Given the description of an element on the screen output the (x, y) to click on. 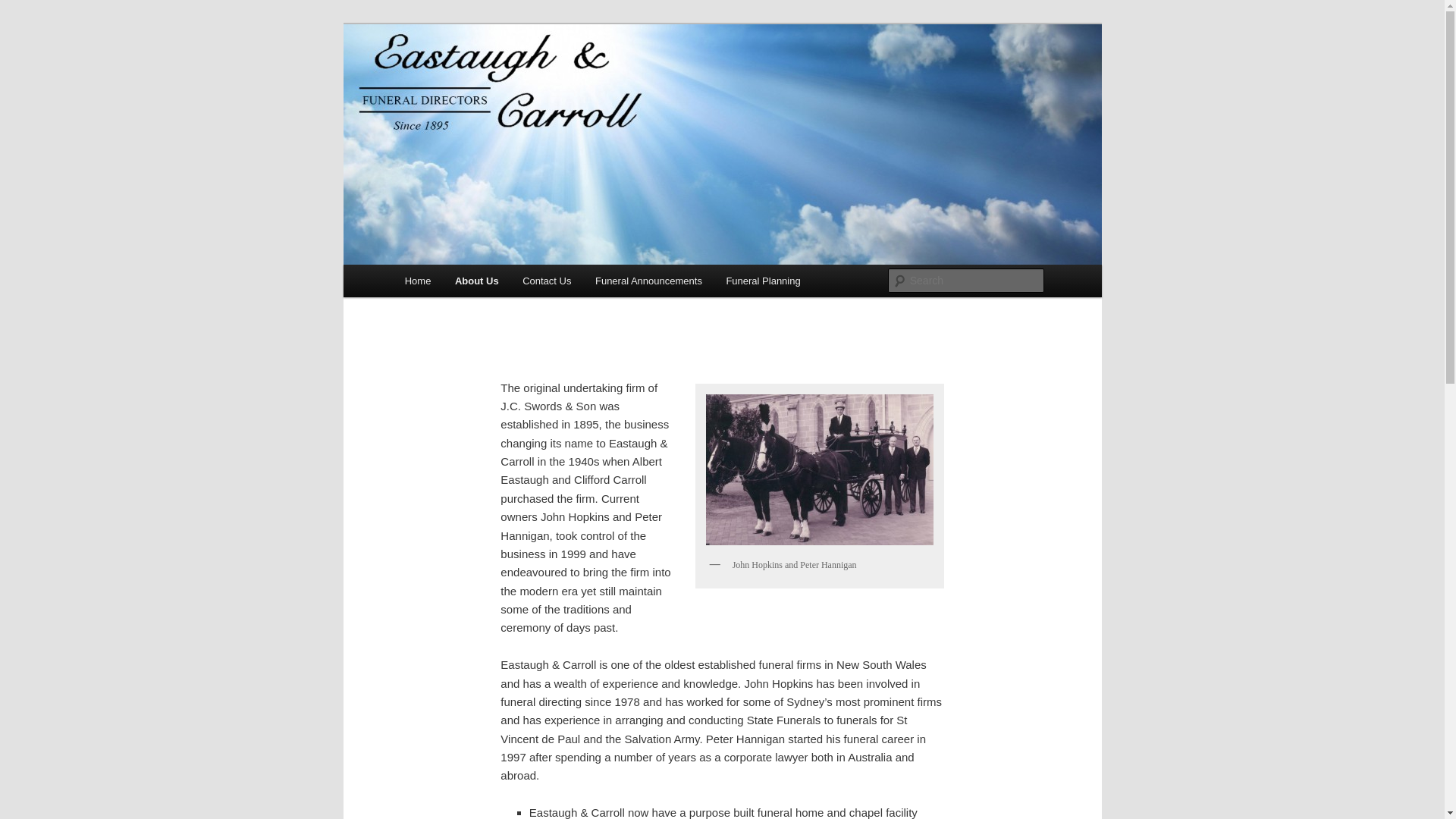
Funeral Announcements Element type: text (648, 280)
Home Element type: text (417, 280)
Eastaugh & Carroll Element type: text (502, 78)
Skip to primary content Element type: text (472, 283)
Skip to secondary content Element type: text (479, 283)
Contact Us Element type: text (546, 280)
Funeral Planning Element type: text (763, 280)
Search Element type: text (24, 8)
About Us Element type: text (476, 280)
